Given the description of an element on the screen output the (x, y) to click on. 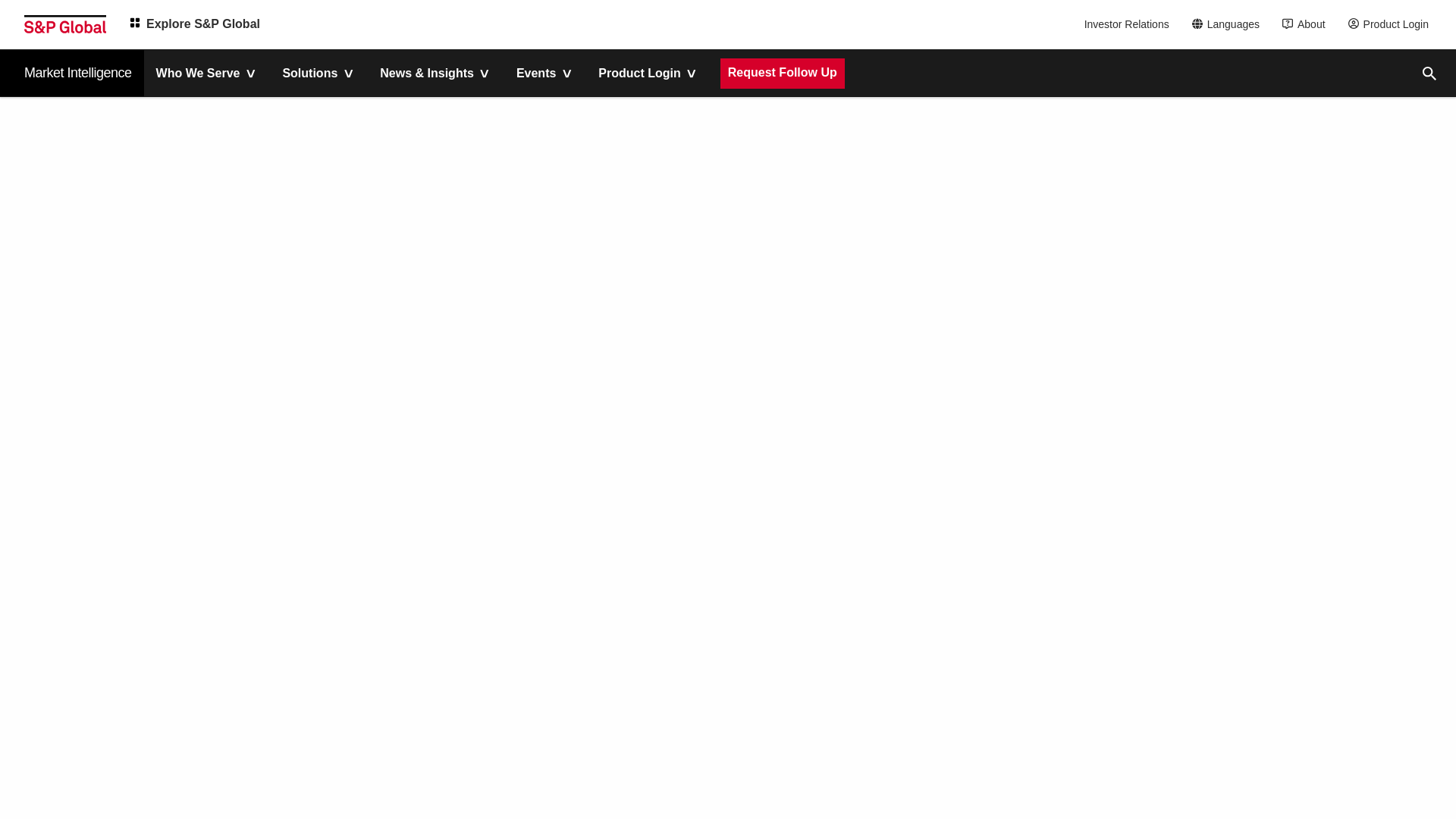
Product Login (1392, 24)
Languages (1230, 24)
About (1307, 24)
Investor Relations (1129, 24)
